Given the description of an element on the screen output the (x, y) to click on. 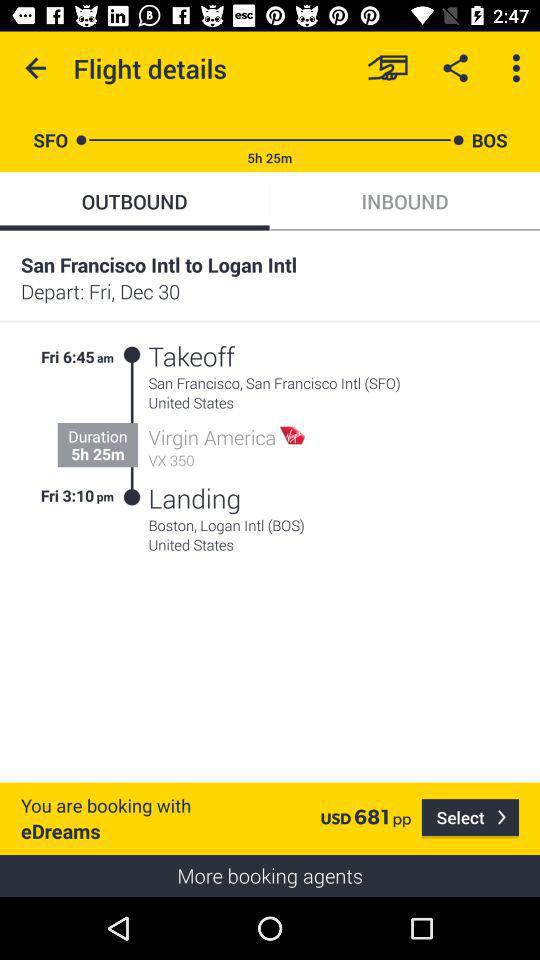
scroll to duration icon (97, 435)
